Given the description of an element on the screen output the (x, y) to click on. 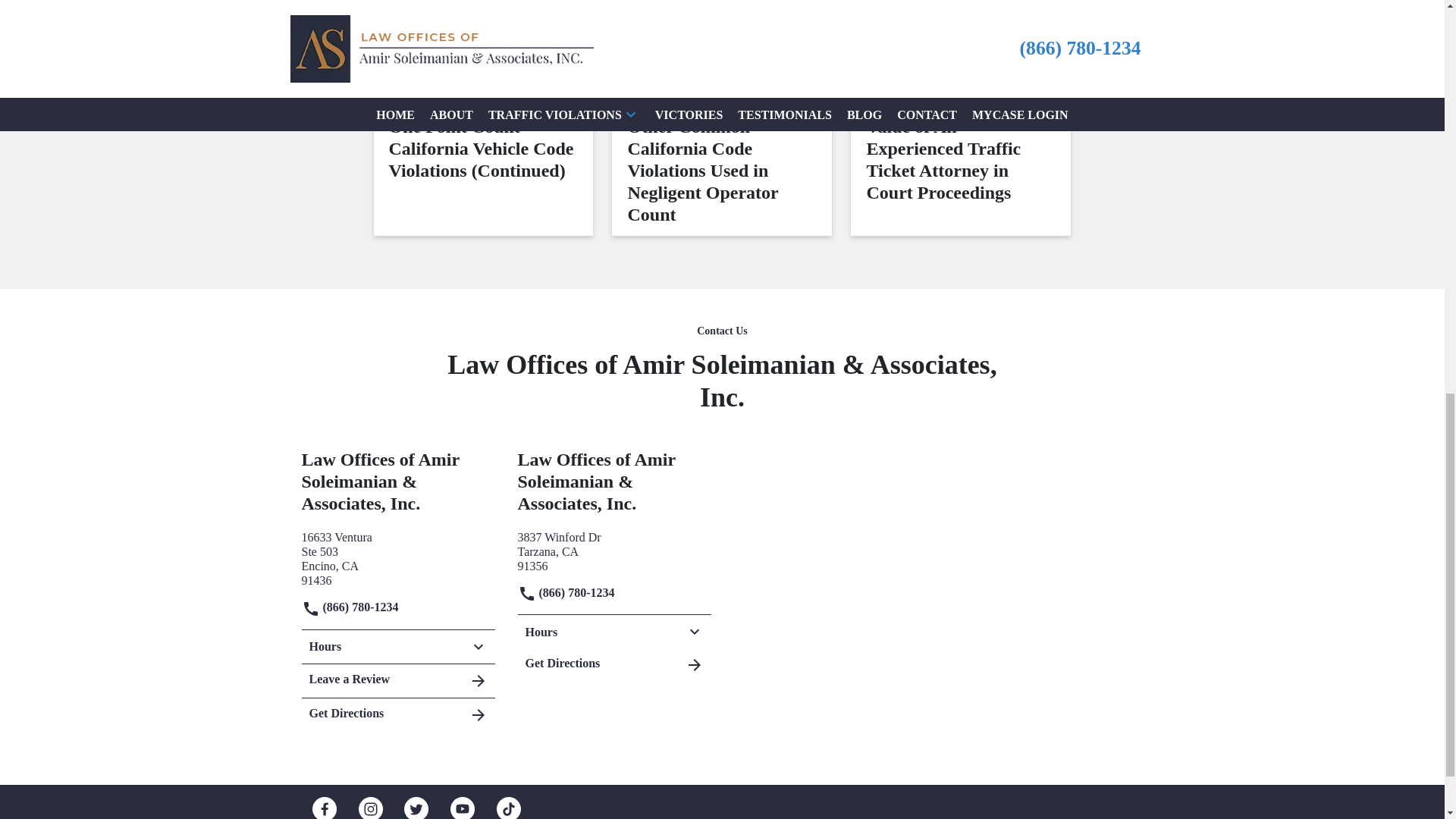
Hours (398, 646)
Leave a Review (398, 680)
Get Directions (613, 550)
